Given the description of an element on the screen output the (x, y) to click on. 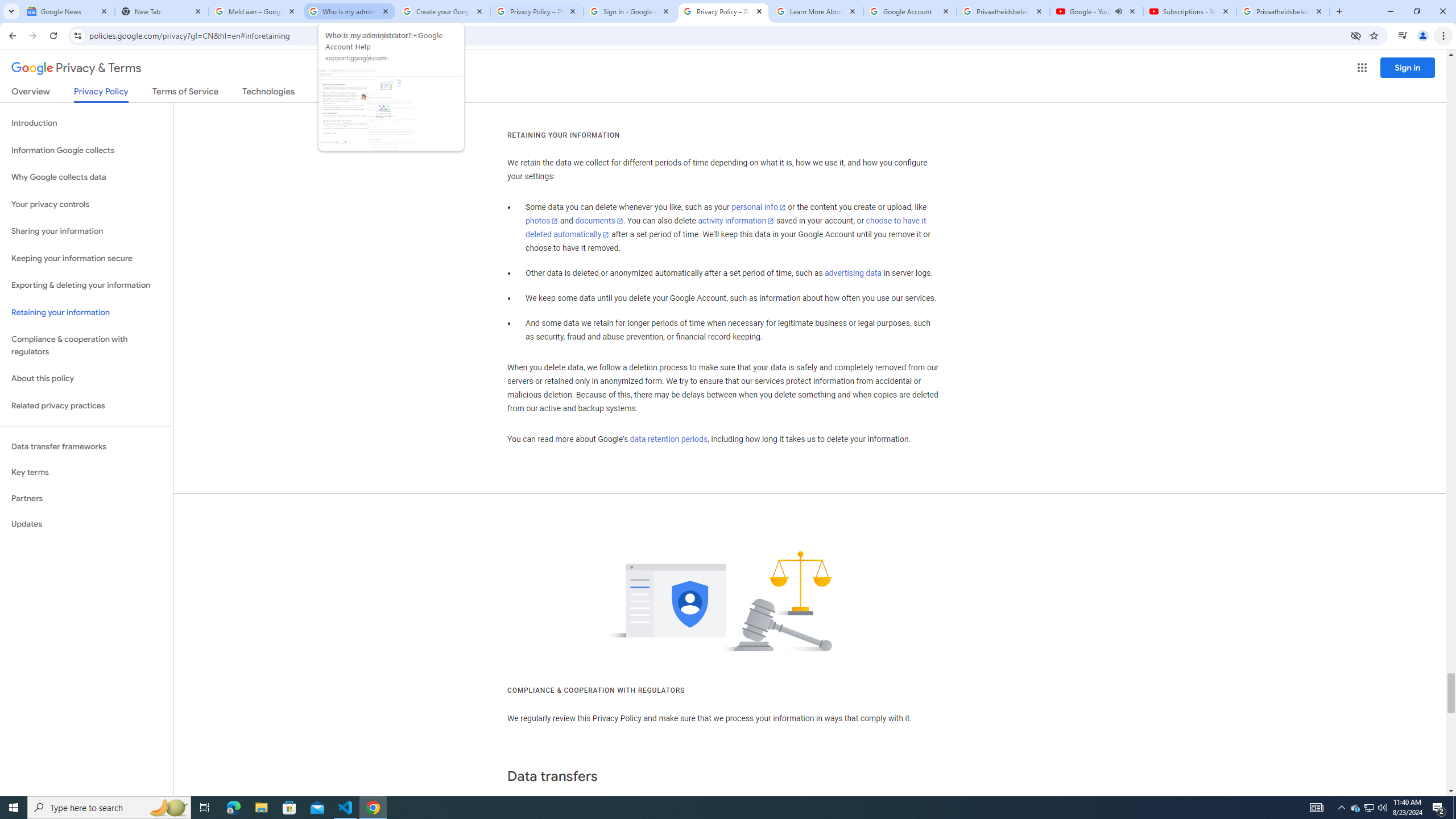
Subscriptions - YouTube (1189, 11)
documents (599, 221)
